Given the description of an element on the screen output the (x, y) to click on. 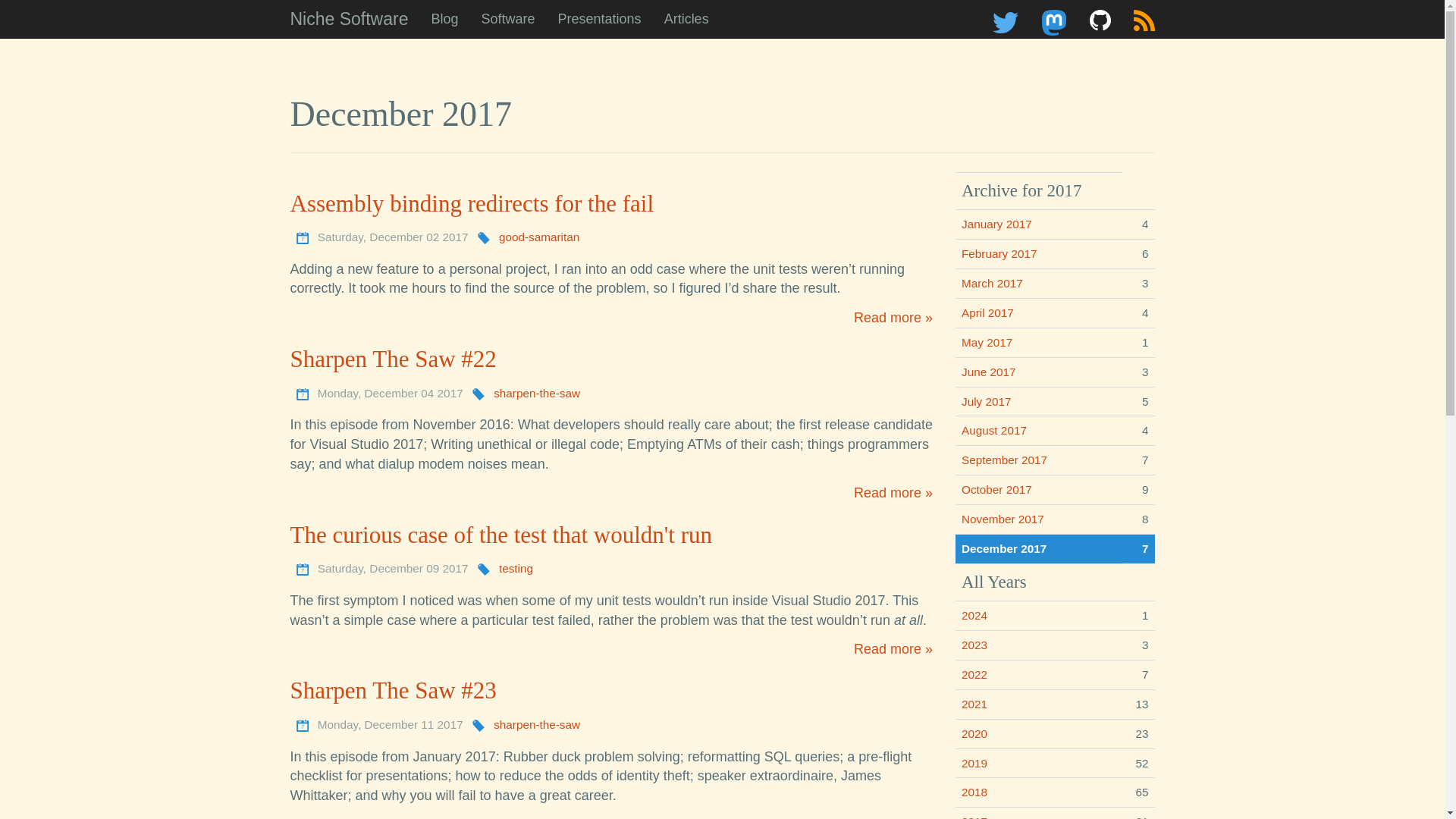
Assembly binding redirects for the fail (471, 203)
testing (515, 567)
Niche Software (349, 18)
Blog (443, 18)
Software (508, 18)
January 2017 (996, 223)
Presentations (599, 18)
Articles (686, 18)
February 2017 (998, 253)
sharpen-the-saw (536, 392)
good-samaritan (539, 236)
The curious case of the test that wouldn't run (500, 534)
March 2017 (991, 282)
sharpen-the-saw (536, 724)
